Given the description of an element on the screen output the (x, y) to click on. 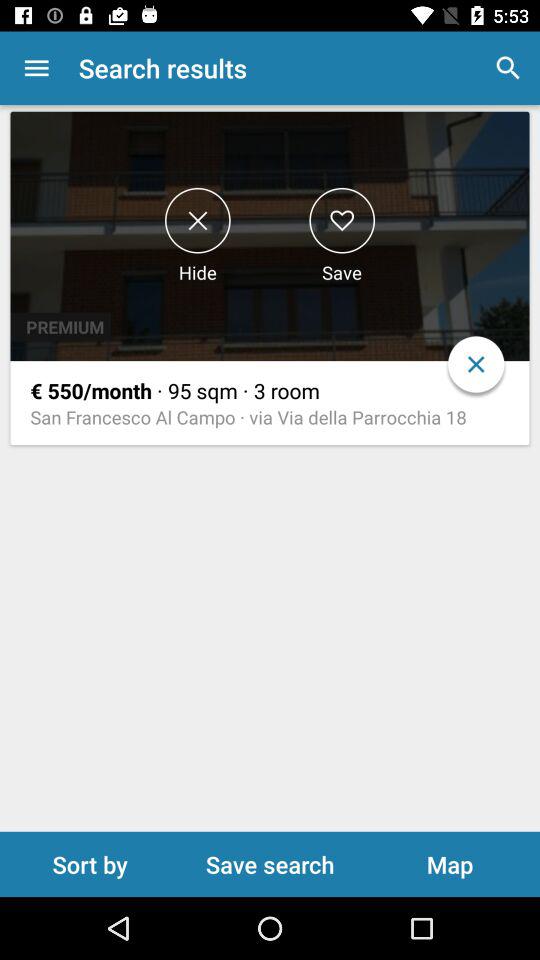
launch the icon to the left of the save search item (90, 863)
